Given the description of an element on the screen output the (x, y) to click on. 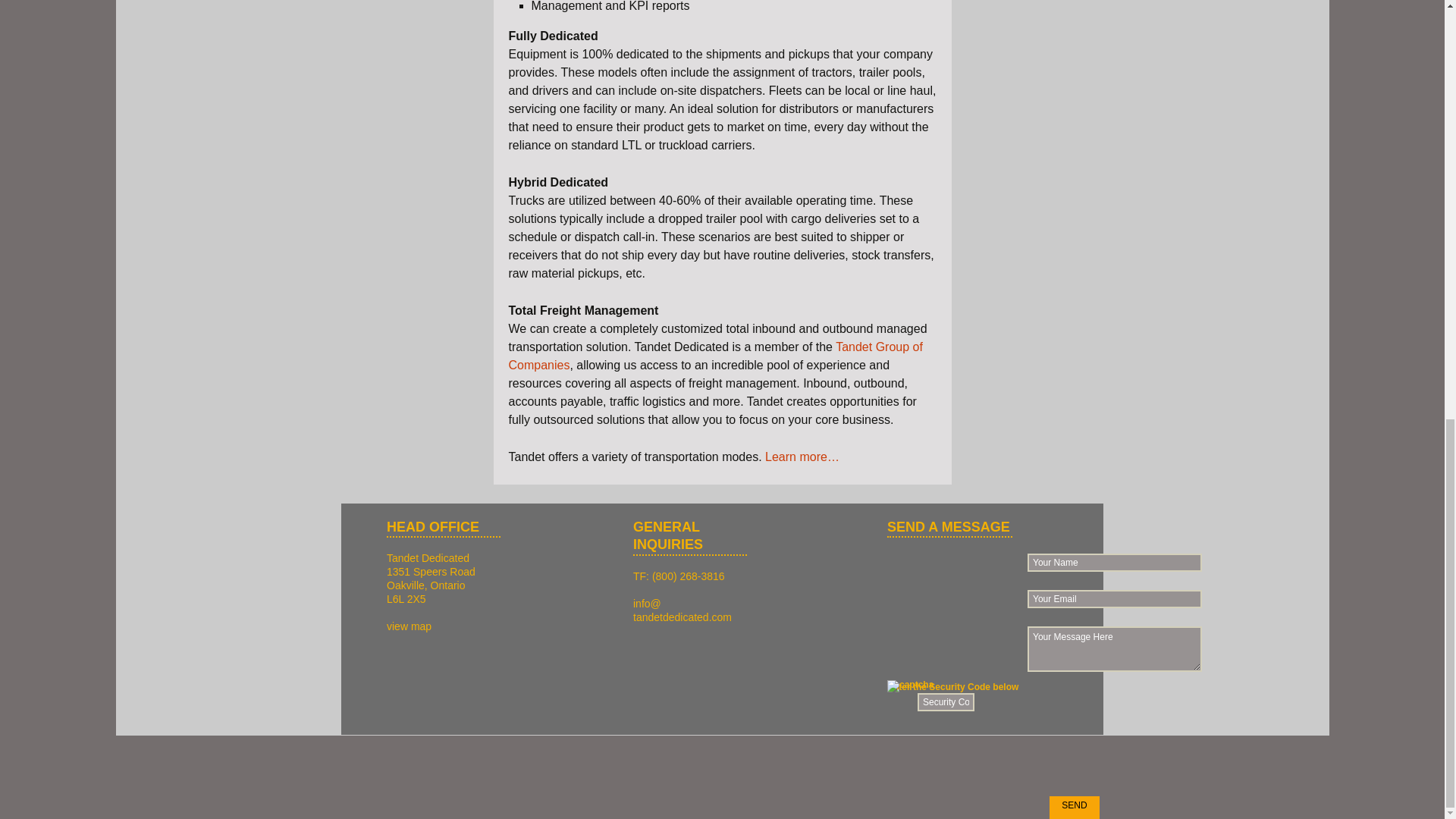
Service Modes (802, 456)
view map (408, 626)
Tandet Group of Companies (714, 355)
